Given the description of an element on the screen output the (x, y) to click on. 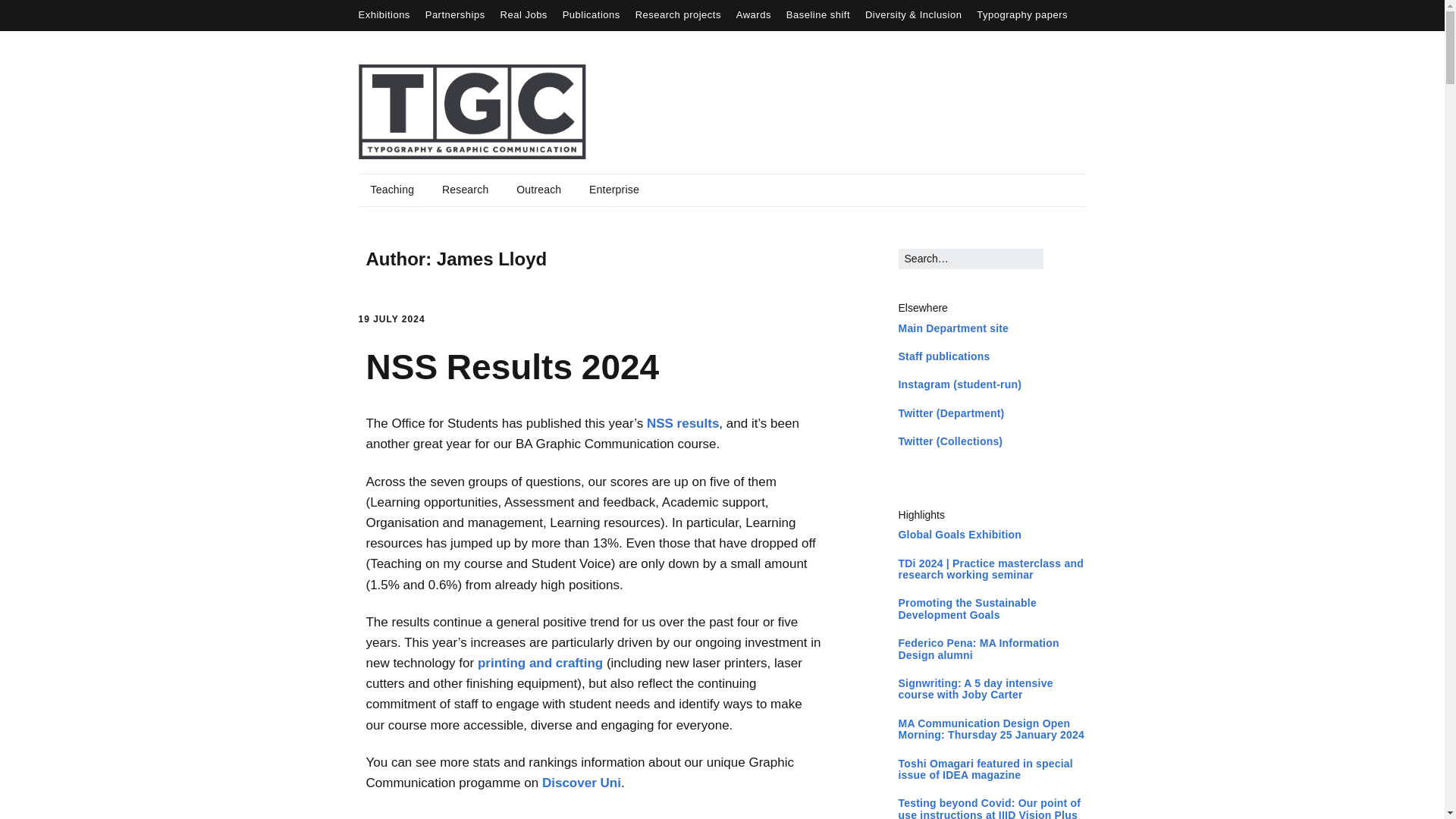
Teaching (392, 190)
Awards (753, 14)
Press Enter to submit your search (970, 258)
Research projects (677, 14)
NSS Results 2024 (512, 366)
19 JULY 2024 (391, 318)
Partnerships (454, 14)
Real Jobs (523, 14)
Exhibitions (383, 14)
